Given the description of an element on the screen output the (x, y) to click on. 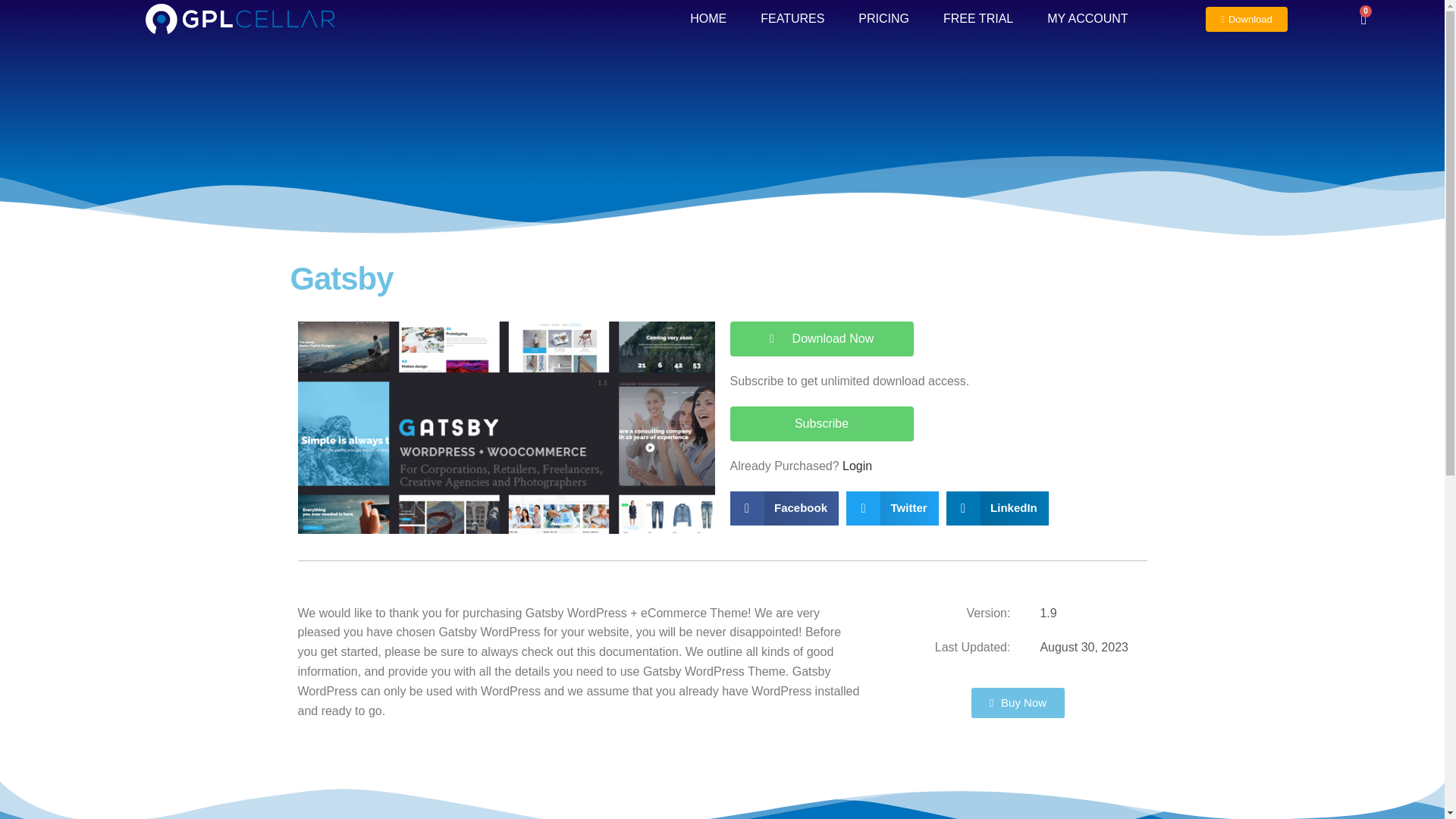
PRICING (883, 19)
HOME (708, 19)
0 (1363, 18)
Login (857, 465)
Buy Now (1018, 702)
FEATURES (792, 19)
Subscribe (820, 423)
Download (1246, 18)
FREE TRIAL (978, 19)
MY ACCOUNT (1090, 19)
